Given the description of an element on the screen output the (x, y) to click on. 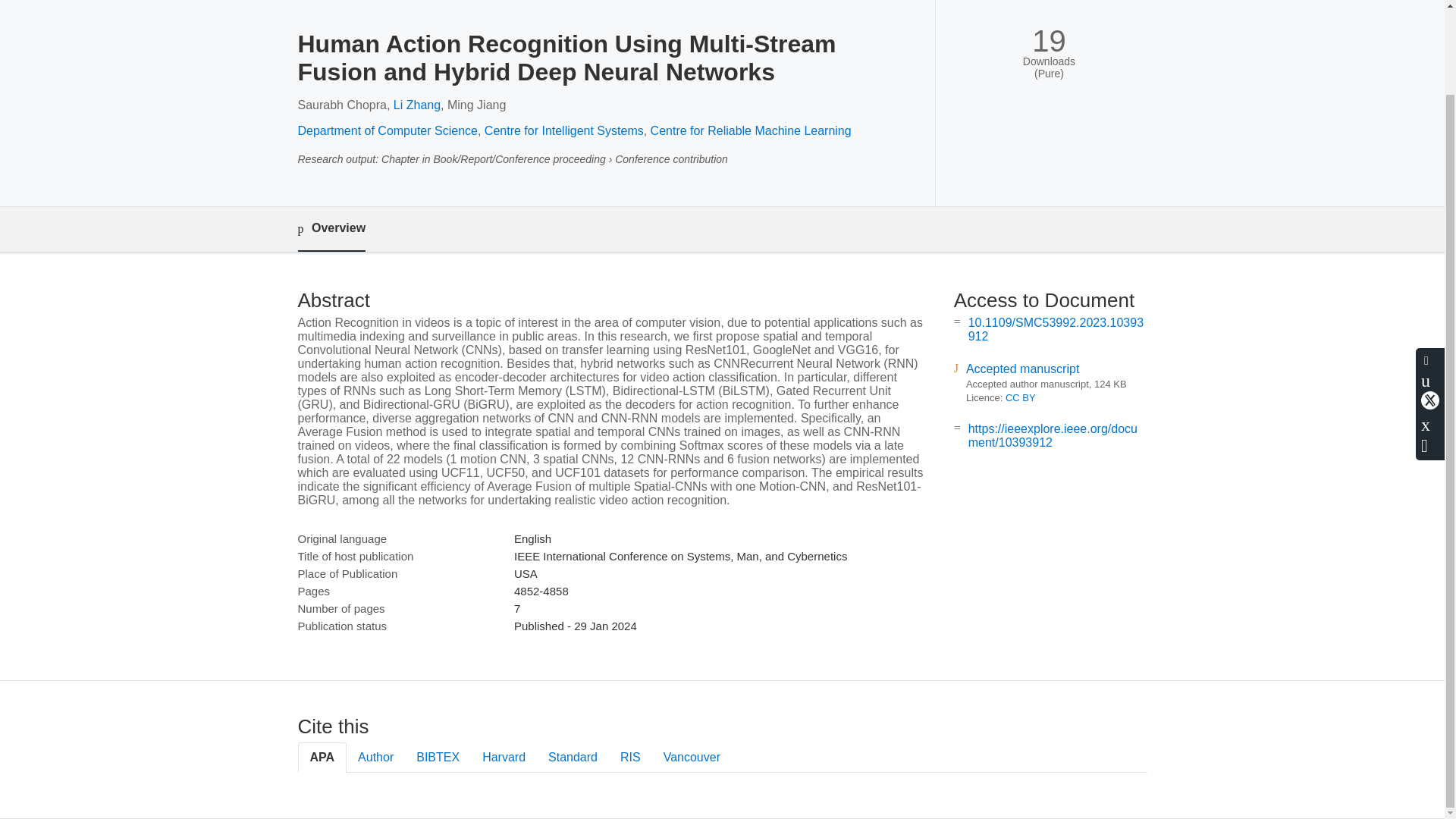
CC BY (1020, 397)
Centre for Reliable Machine Learning (750, 130)
Overview (331, 229)
Centre for Intelligent Systems (563, 130)
Li Zhang (417, 104)
Department of Computer Science (387, 130)
Accepted manuscript (1022, 368)
